Given the description of an element on the screen output the (x, y) to click on. 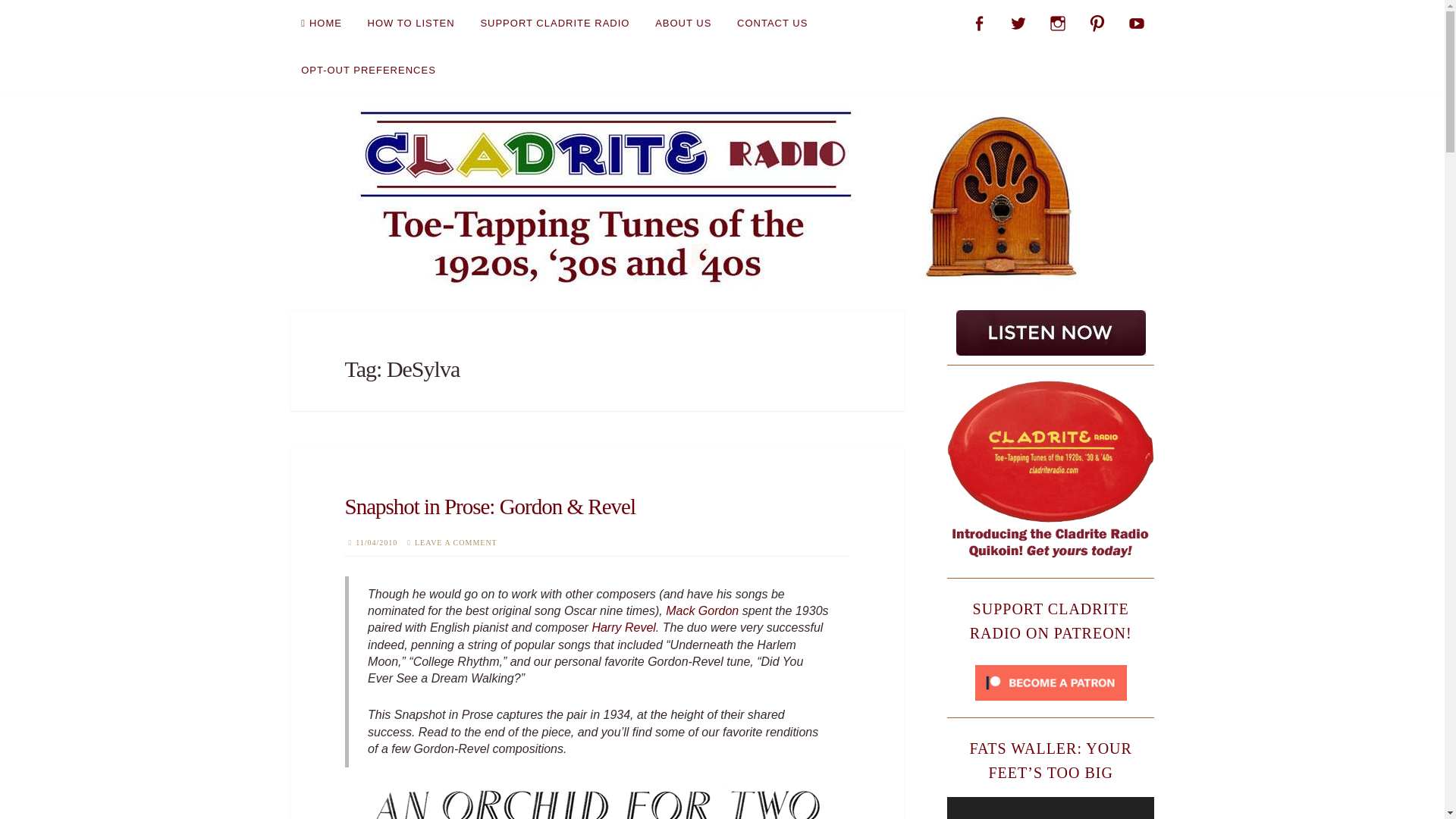
SUPPORT CLADRITE RADIO (554, 23)
HOME (320, 23)
ABOUT US (683, 23)
Harry Revel (623, 626)
OPT-OUT PREFERENCES (367, 70)
CONTACT US (771, 23)
HOW TO LISTEN (410, 23)
LEAVE A COMMENT (455, 542)
Mack Gordon (701, 610)
